Given the description of an element on the screen output the (x, y) to click on. 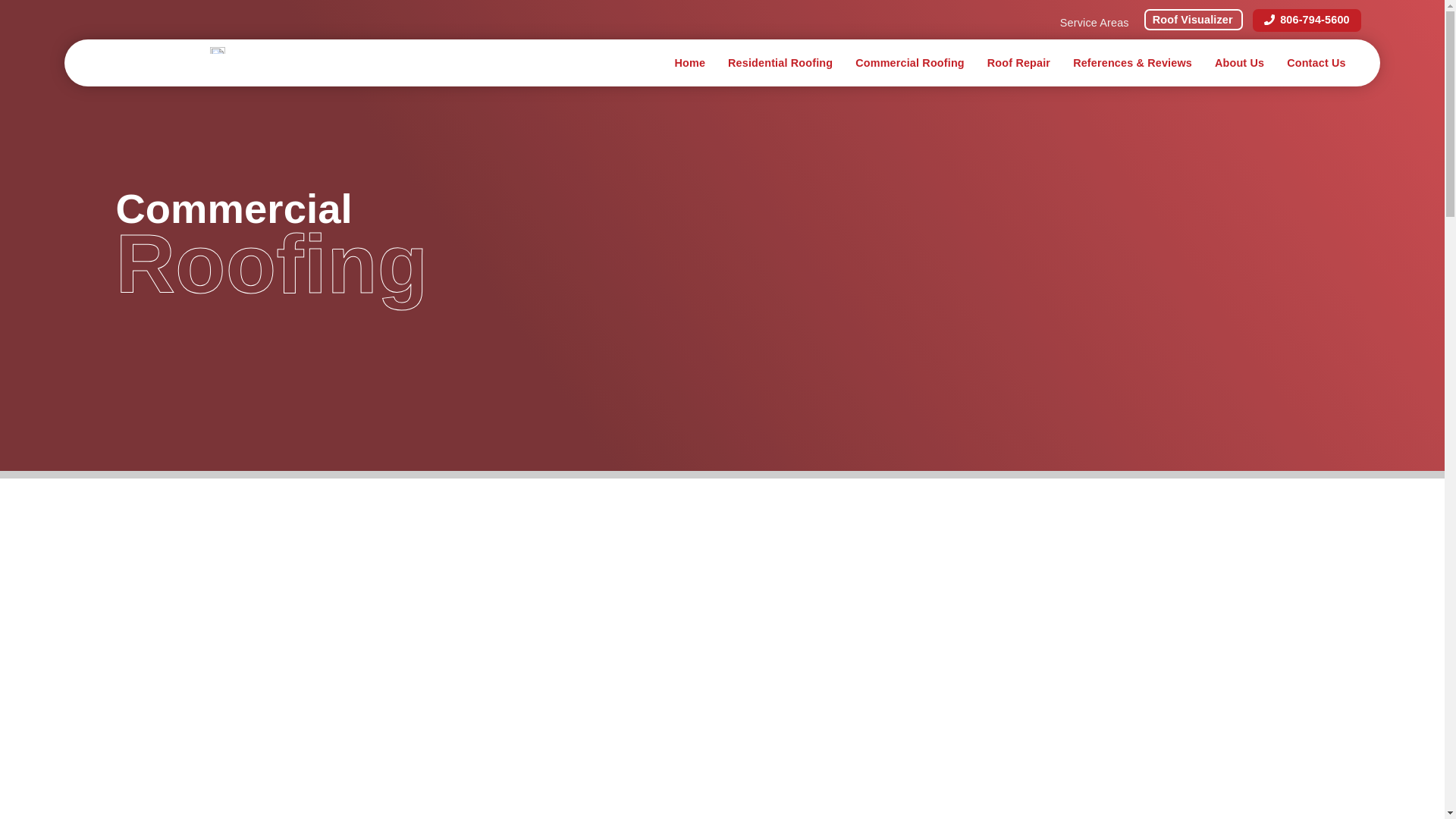
Service Areas (1094, 22)
806-794-5600 (1306, 20)
Roof Visualizer (1193, 19)
Residential Roofing (780, 62)
Home (689, 62)
Commercial Roofing (909, 62)
